Given the description of an element on the screen output the (x, y) to click on. 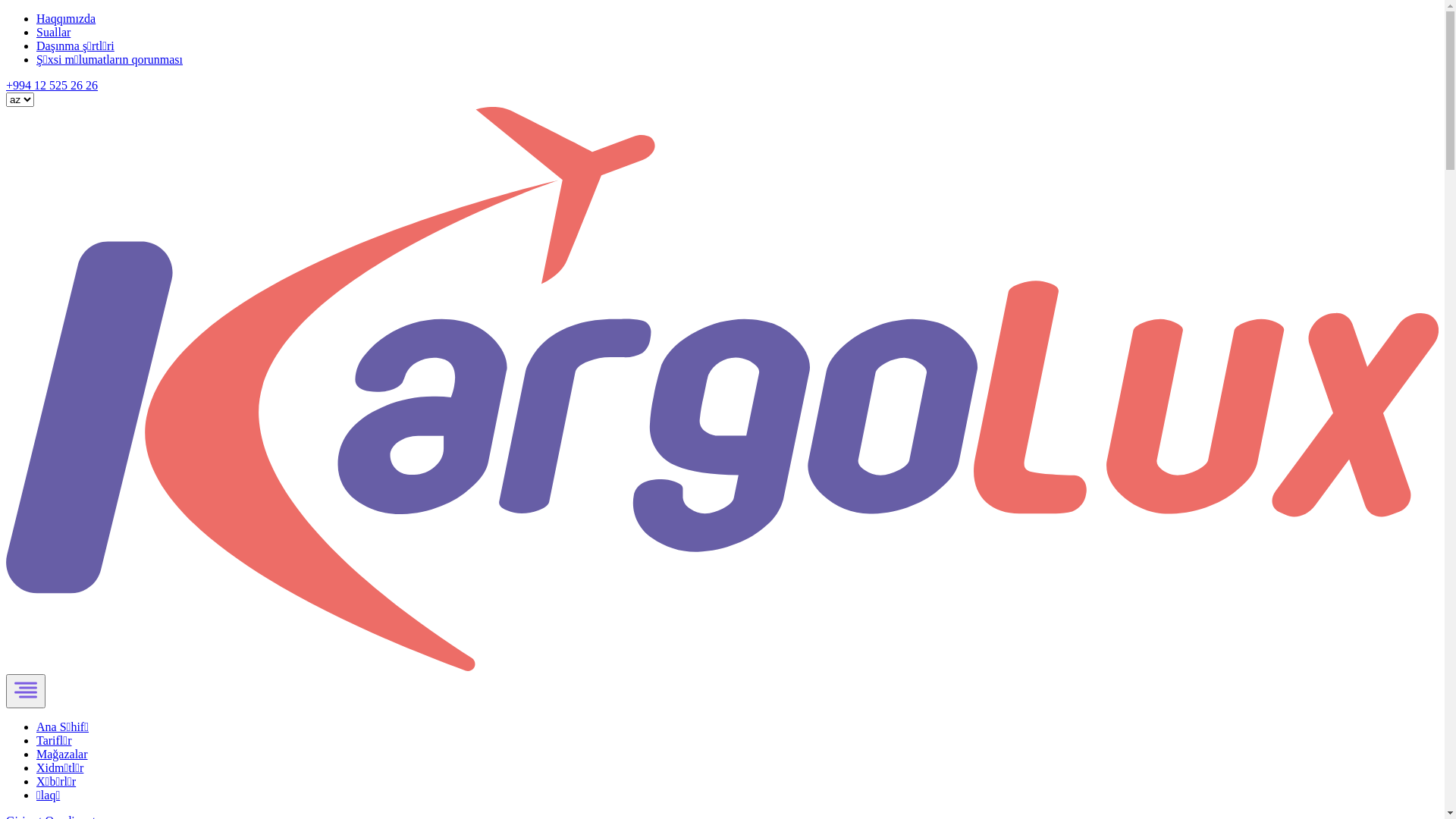
+994 12 525 26 26 Element type: text (51, 84)
Suallar Element type: text (53, 31)
